Given the description of an element on the screen output the (x, y) to click on. 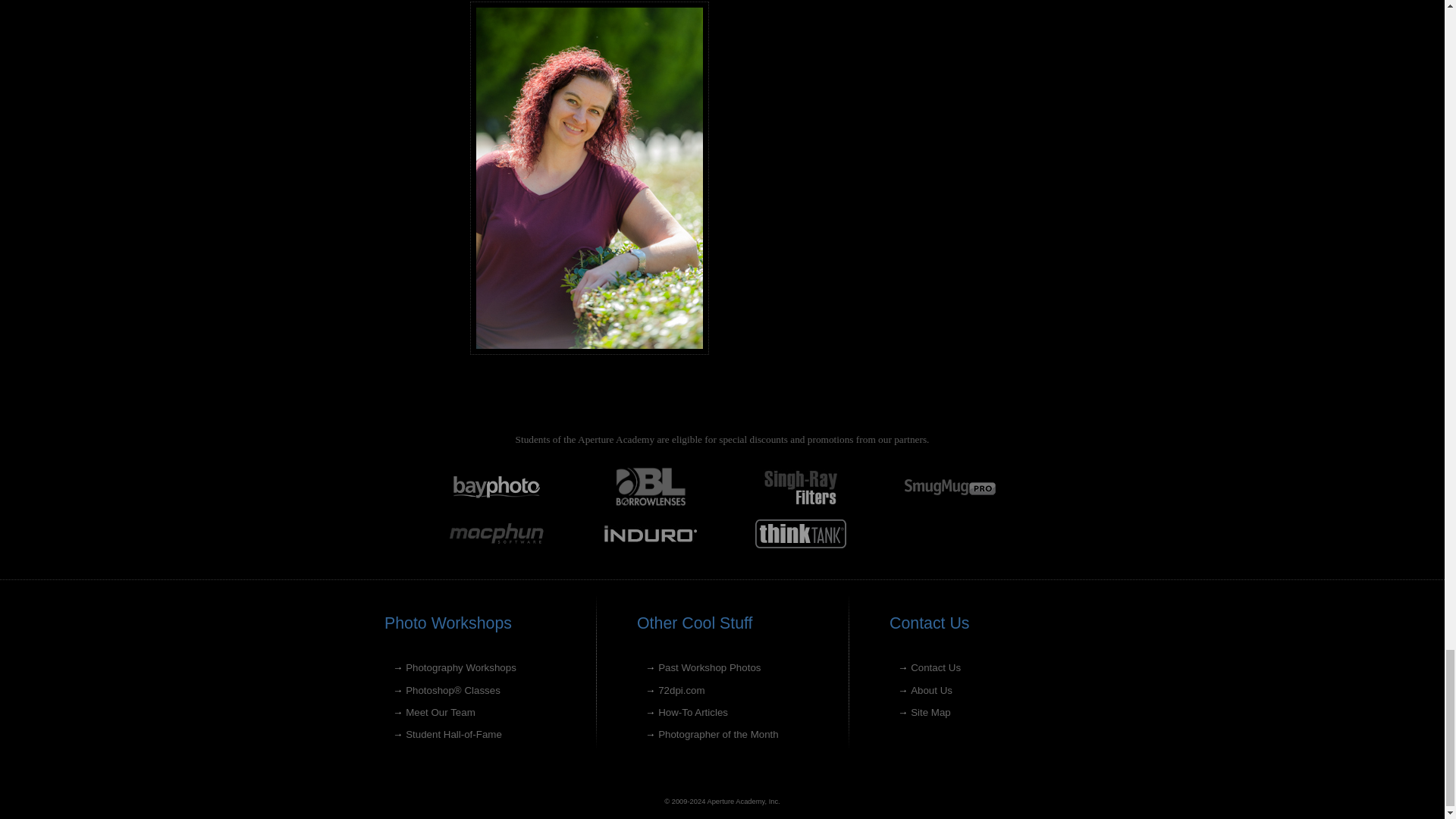
About Us (931, 690)
72dpi.com (681, 690)
Past Workshop Photos (709, 667)
Photography Workshops (461, 667)
Photographer of the Month (718, 734)
Contact Us (935, 667)
How-To Articles (693, 712)
Student Hall-of-Fame (454, 734)
Site Map (930, 712)
Meet Our Team (441, 712)
